Given the description of an element on the screen output the (x, y) to click on. 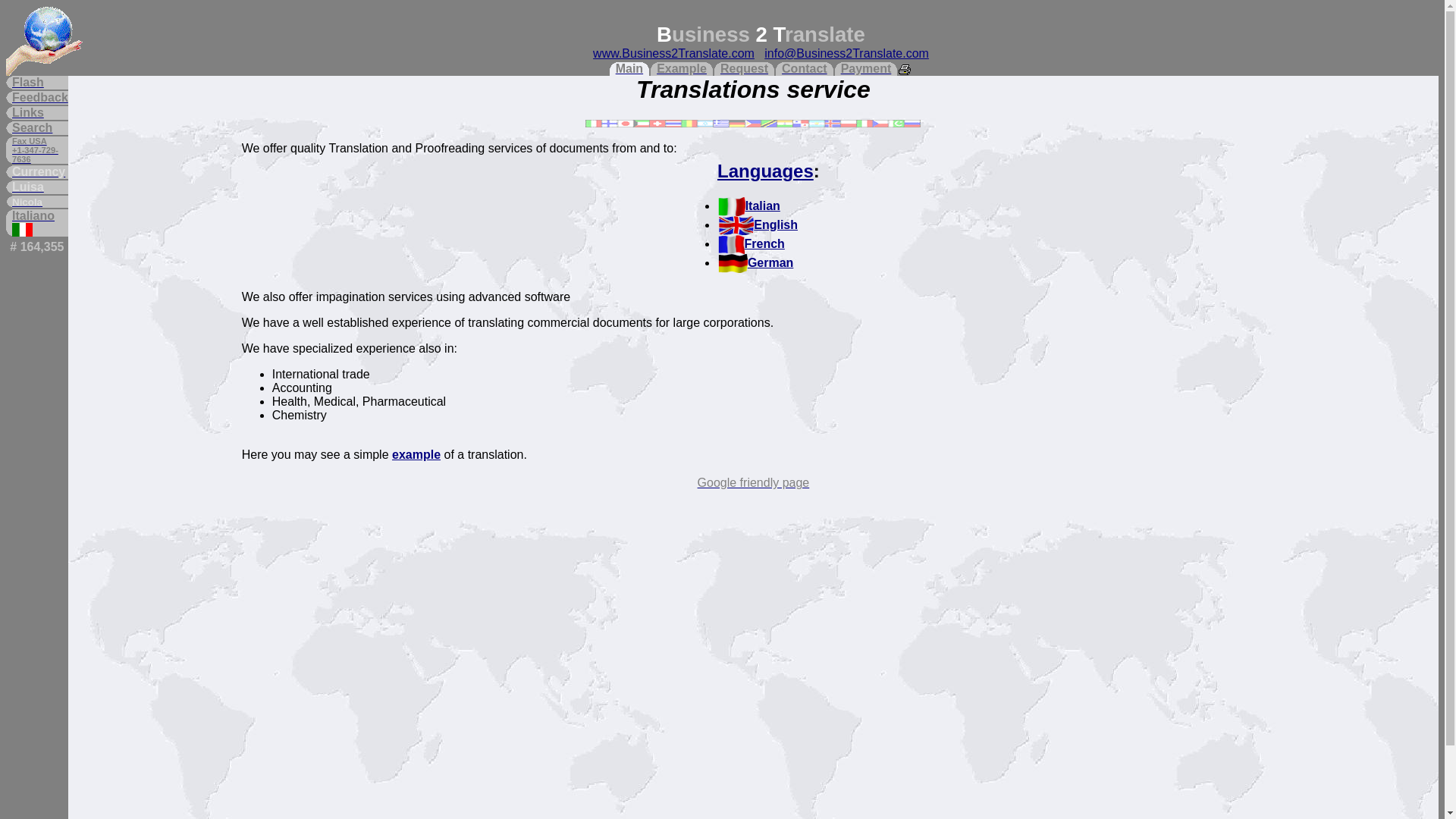
Nicola (39, 201)
Luisa (39, 187)
www.Business2Translate.com (673, 52)
Flash (39, 82)
Currency (39, 172)
Contact (804, 69)
Feedback (39, 97)
Example (681, 69)
Italian (748, 205)
